Given the description of an element on the screen output the (x, y) to click on. 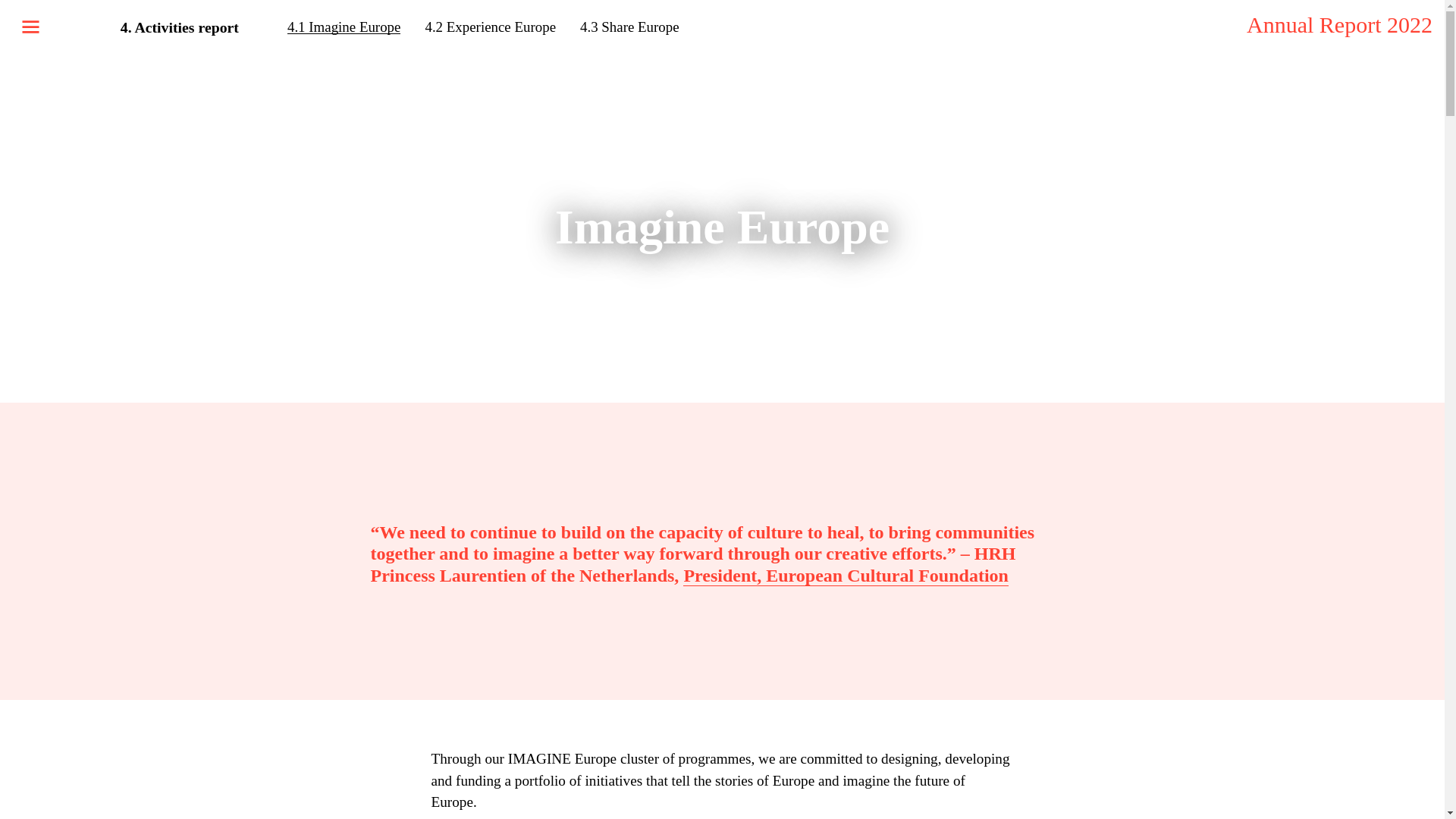
President, European Cultural Foundation (845, 575)
4.3 Share Europe (629, 26)
4.2 Experience Europe (490, 26)
4.1 Imagine Europe (343, 27)
